Given the description of an element on the screen output the (x, y) to click on. 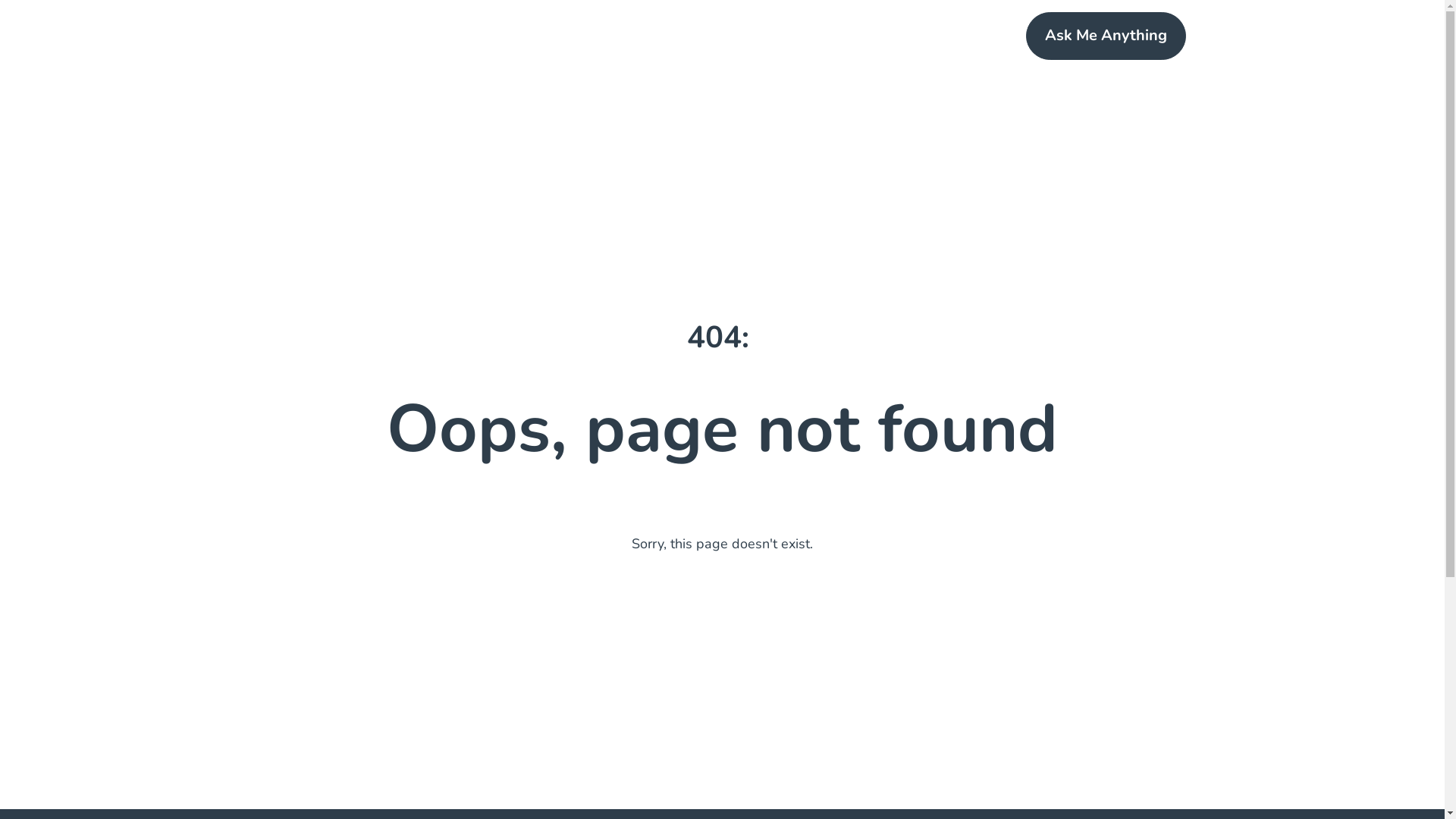
Ask Me Anything Element type: text (1106, 35)
